Given the description of an element on the screen output the (x, y) to click on. 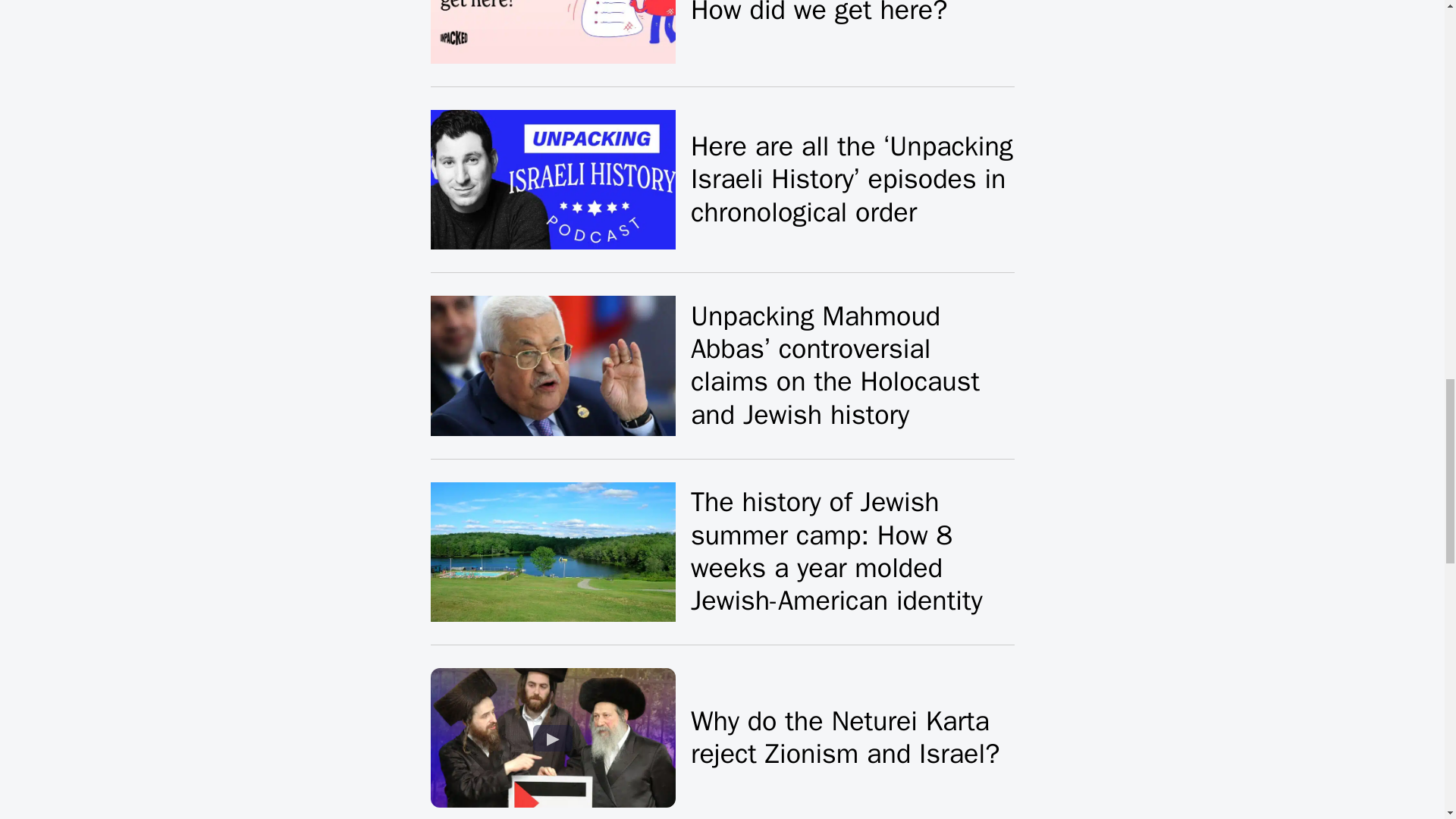
History of the conflicts: How did we get here? (828, 13)
